Given the description of an element on the screen output the (x, y) to click on. 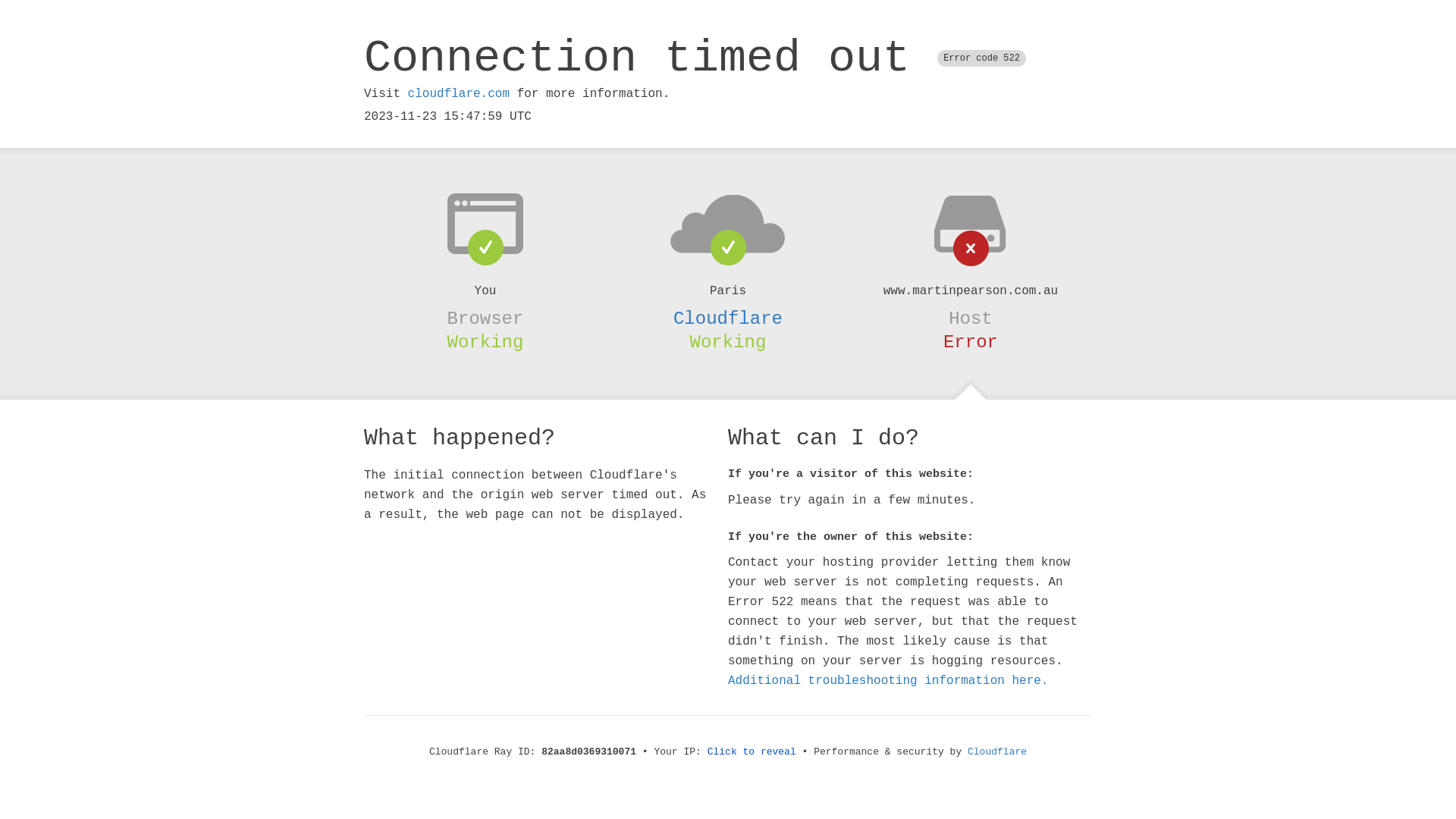
Additional troubleshooting information here. Element type: text (888, 680)
cloudflare.com Element type: text (458, 93)
Cloudflare Element type: text (727, 318)
Cloudflare Element type: text (996, 751)
Click to reveal Element type: text (751, 751)
